Given the description of an element on the screen output the (x, y) to click on. 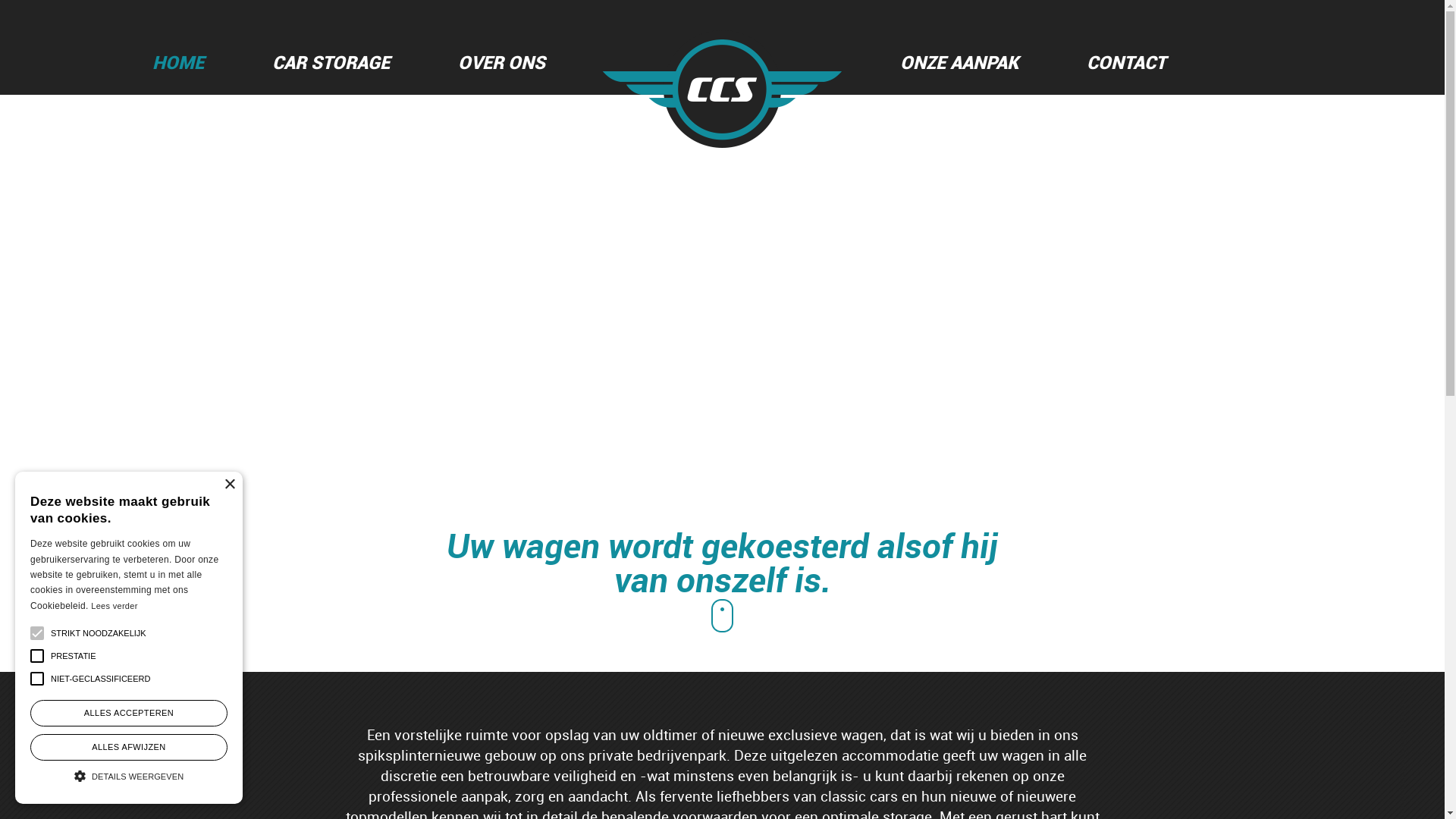
ONZE AANPAK Element type: text (959, 62)
Lees verder Element type: text (114, 605)
OVER ONS Element type: text (500, 62)
CONTACT Element type: text (1125, 62)
HOME Element type: text (178, 62)
CAR STORAGE Element type: text (330, 62)
